Given the description of an element on the screen output the (x, y) to click on. 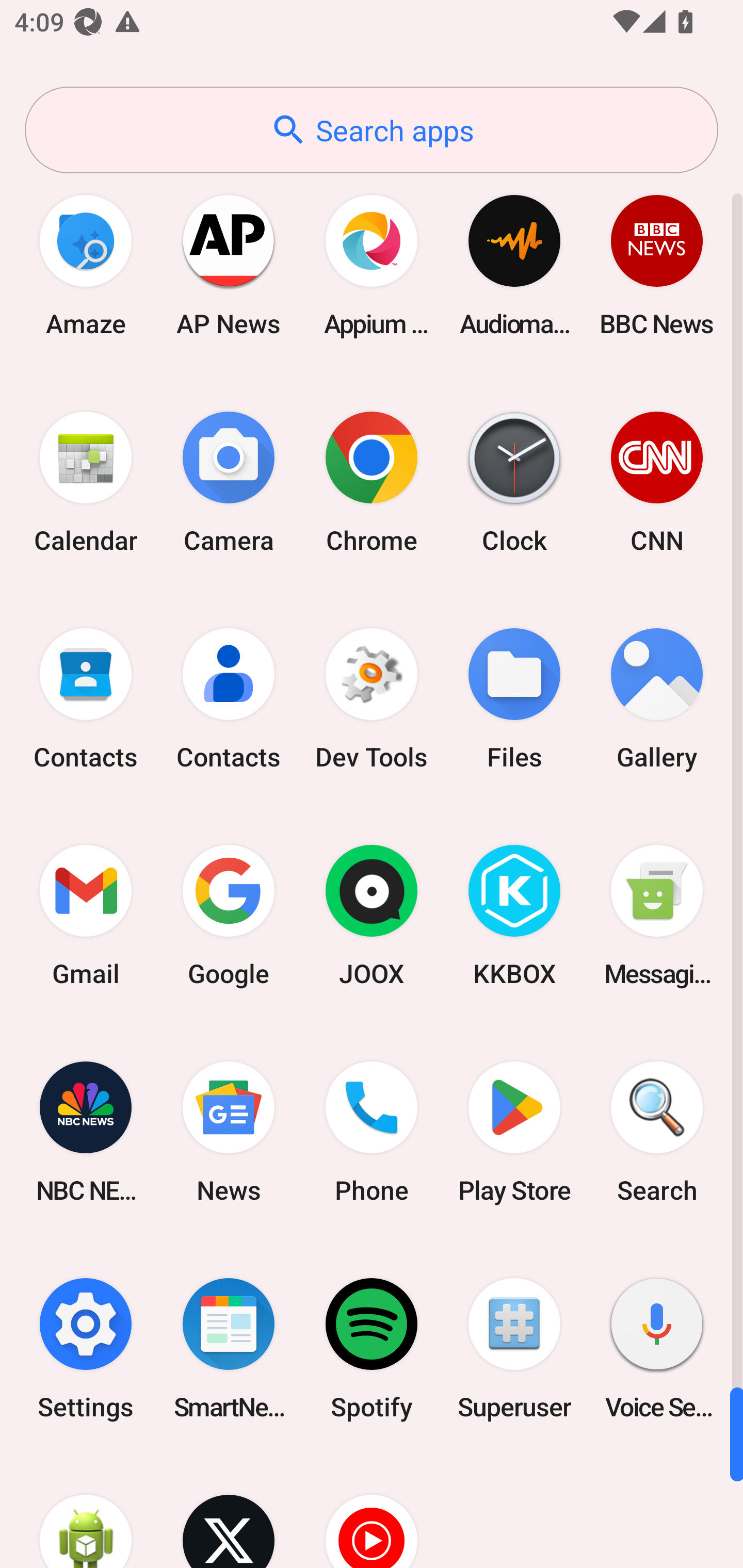
  Search apps (371, 130)
Amaze (85, 264)
AP News (228, 264)
Appium Settings (371, 264)
Audio­mack (514, 264)
BBC News (656, 264)
Calendar (85, 482)
Camera (228, 482)
Chrome (371, 482)
Clock (514, 482)
CNN (656, 482)
Contacts (85, 699)
Contacts (228, 699)
Dev Tools (371, 699)
Files (514, 699)
Gallery (656, 699)
Gmail (85, 915)
Google (228, 915)
JOOX (371, 915)
KKBOX (514, 915)
Messaging (656, 915)
NBC NEWS (85, 1131)
News (228, 1131)
Phone (371, 1131)
Play Store (514, 1131)
Search (656, 1131)
Settings (85, 1348)
SmartNews (228, 1348)
Spotify (371, 1348)
Superuser (514, 1348)
Voice Search (656, 1348)
WebView Browser Tester (85, 1512)
X (228, 1512)
YT Music (371, 1512)
